Given the description of an element on the screen output the (x, y) to click on. 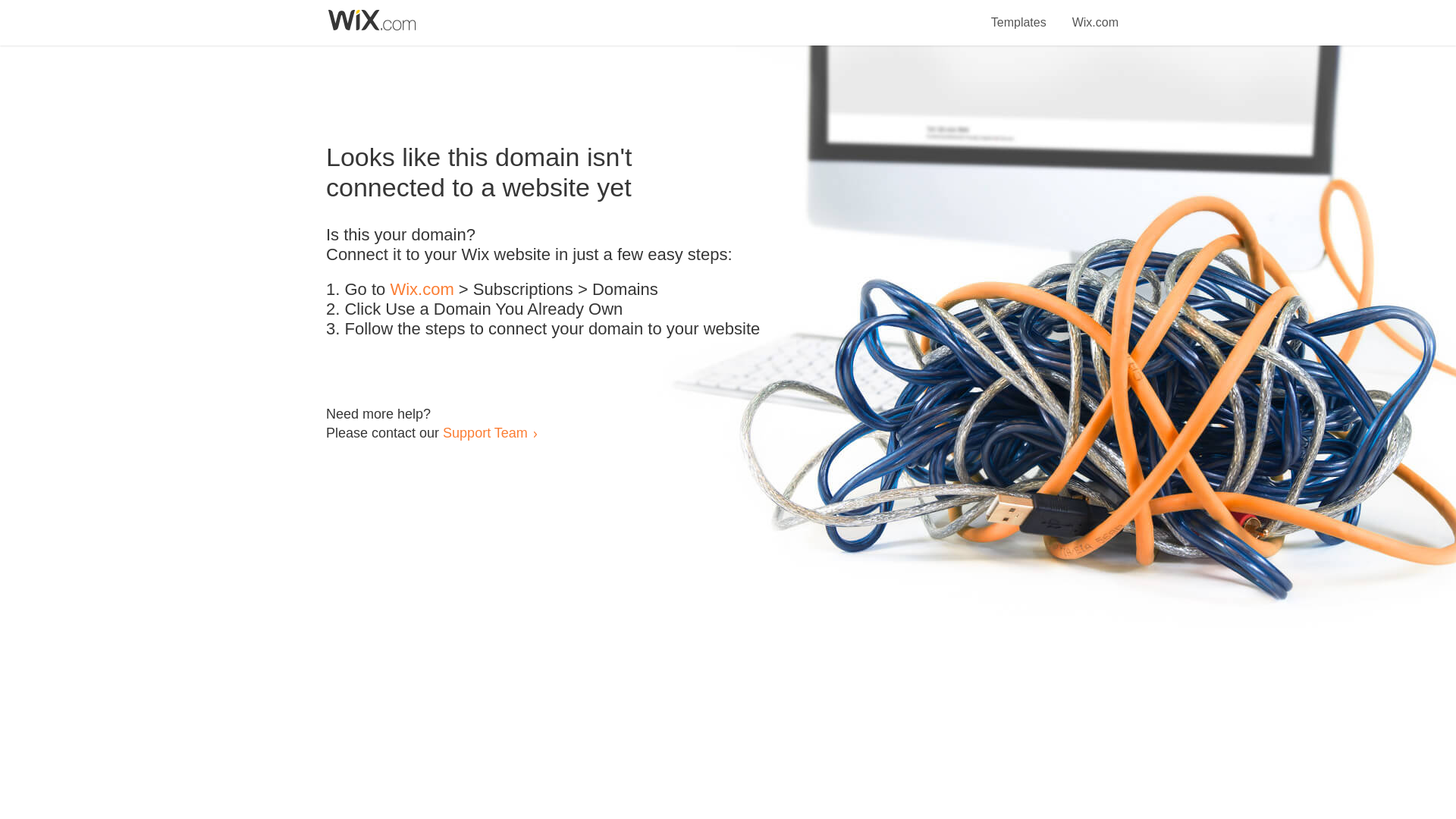
Templates (1018, 14)
Wix.com (421, 289)
Support Team (484, 432)
Wix.com (1095, 14)
